Given the description of an element on the screen output the (x, y) to click on. 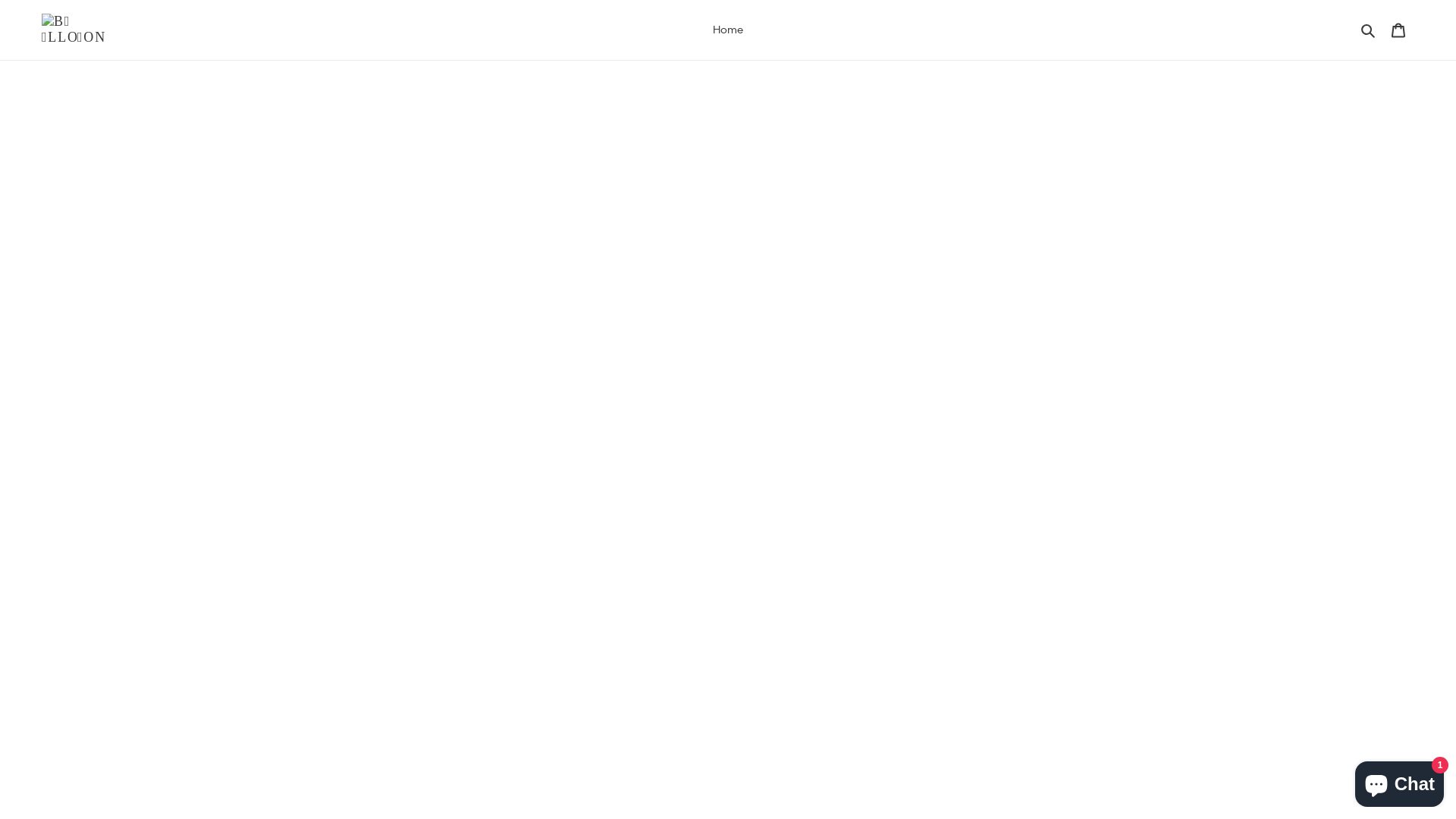
Home Element type: text (727, 29)
Shopify online store chat Element type: hover (1399, 780)
Cart Element type: text (1398, 29)
Search Element type: text (1368, 29)
